Given the description of an element on the screen output the (x, y) to click on. 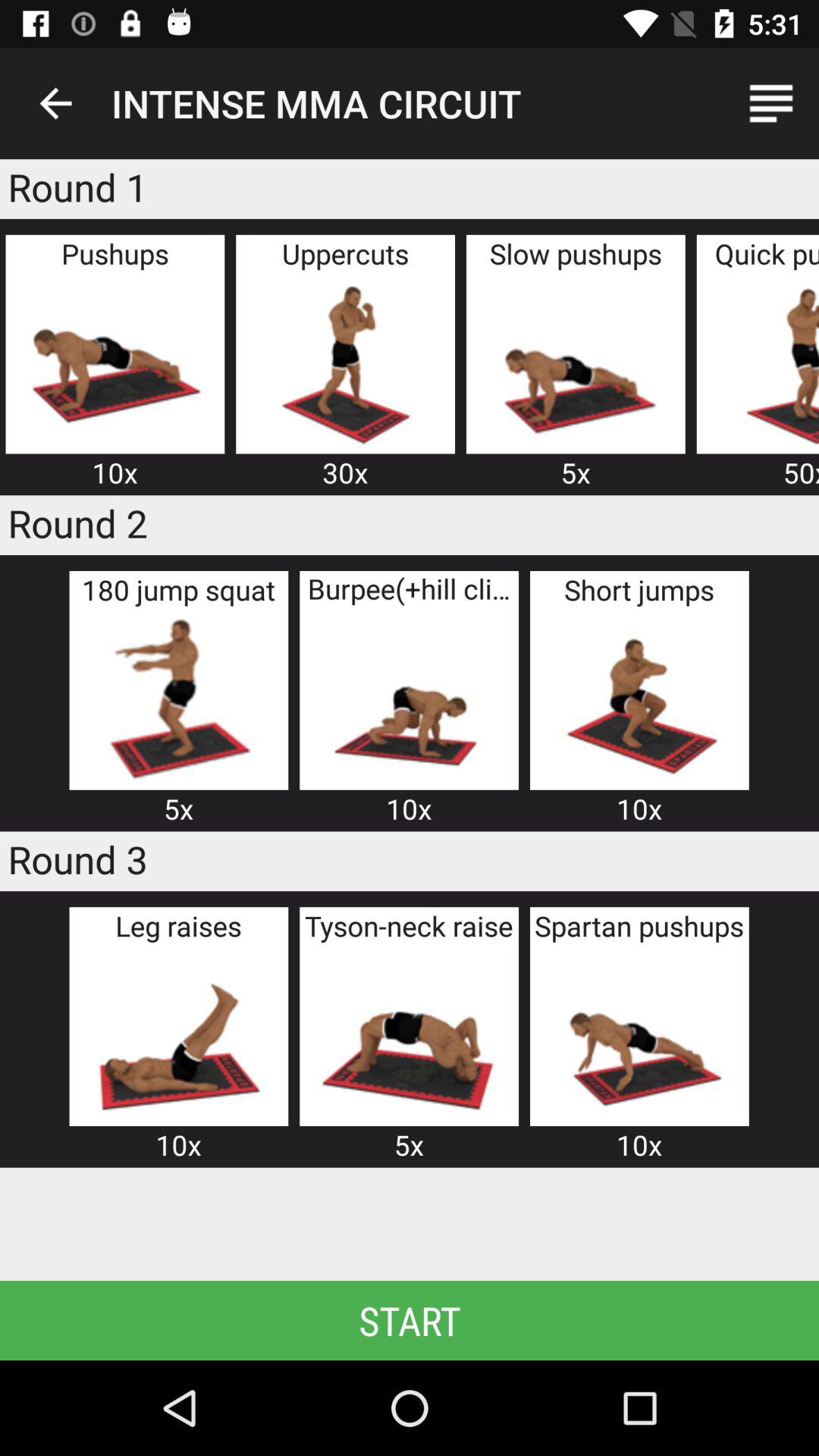
slow pushups (575, 362)
